Given the description of an element on the screen output the (x, y) to click on. 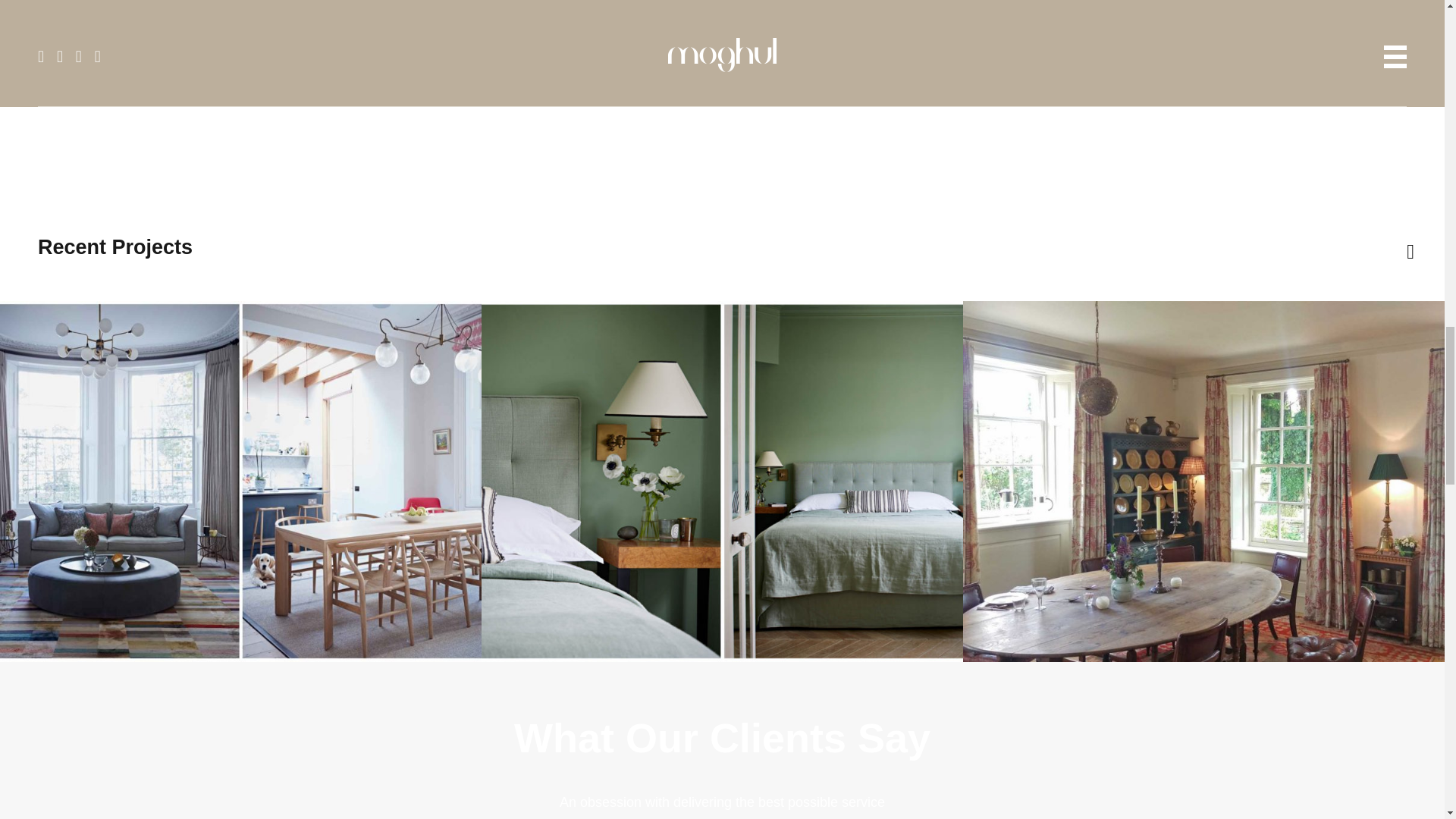
What Our Clients Say (721, 737)
GET IN TOUCH (721, 83)
